Given the description of an element on the screen output the (x, y) to click on. 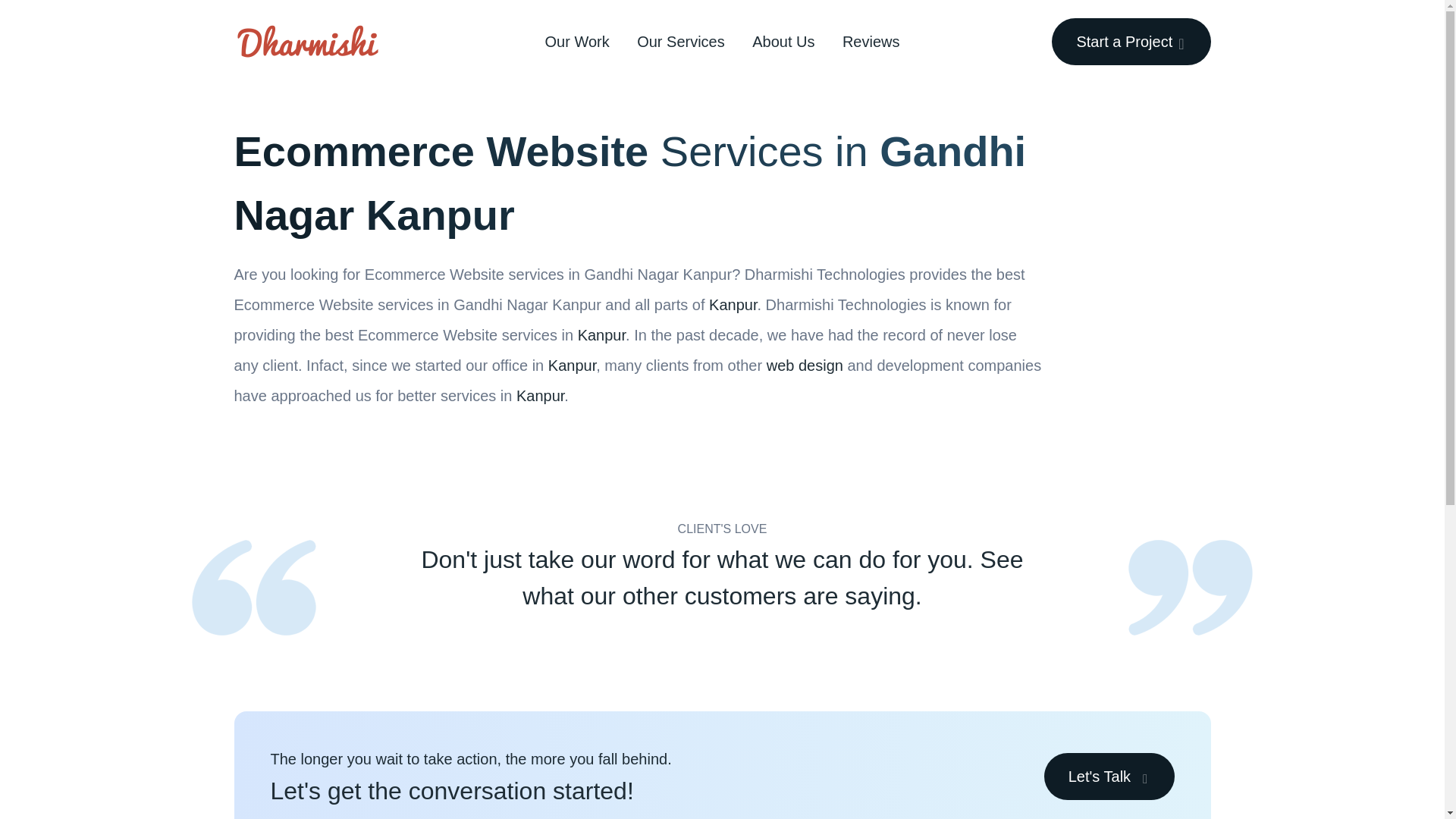
Kanpur (540, 395)
Start a Project (1130, 41)
Kanpur (602, 334)
Kanpur (733, 304)
About Us (782, 41)
web design (805, 365)
Our Work (576, 41)
Let's Talk (1108, 776)
Reviews (871, 41)
Our Services (681, 41)
